Given the description of an element on the screen output the (x, y) to click on. 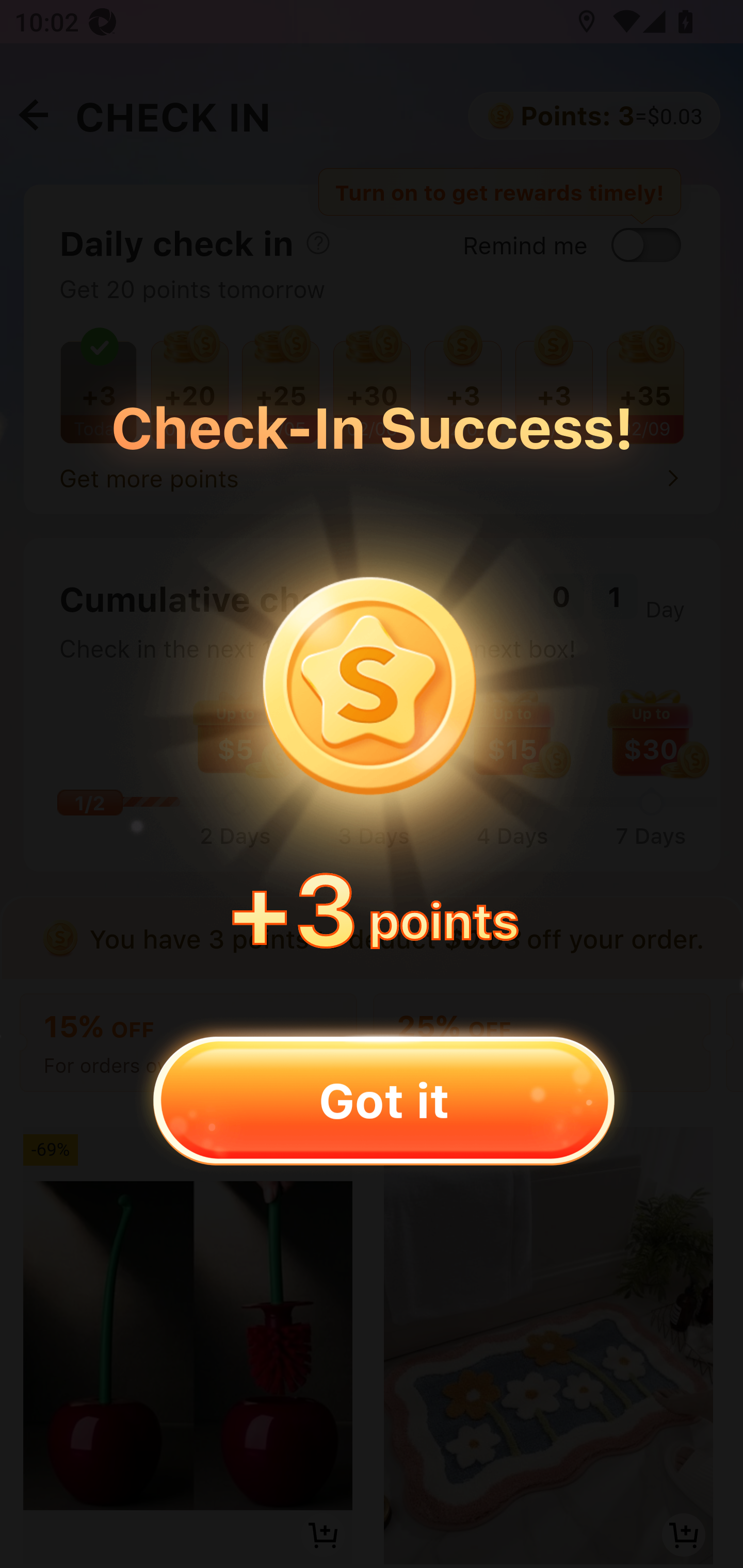
Got it (383, 1099)
